Given the description of an element on the screen output the (x, y) to click on. 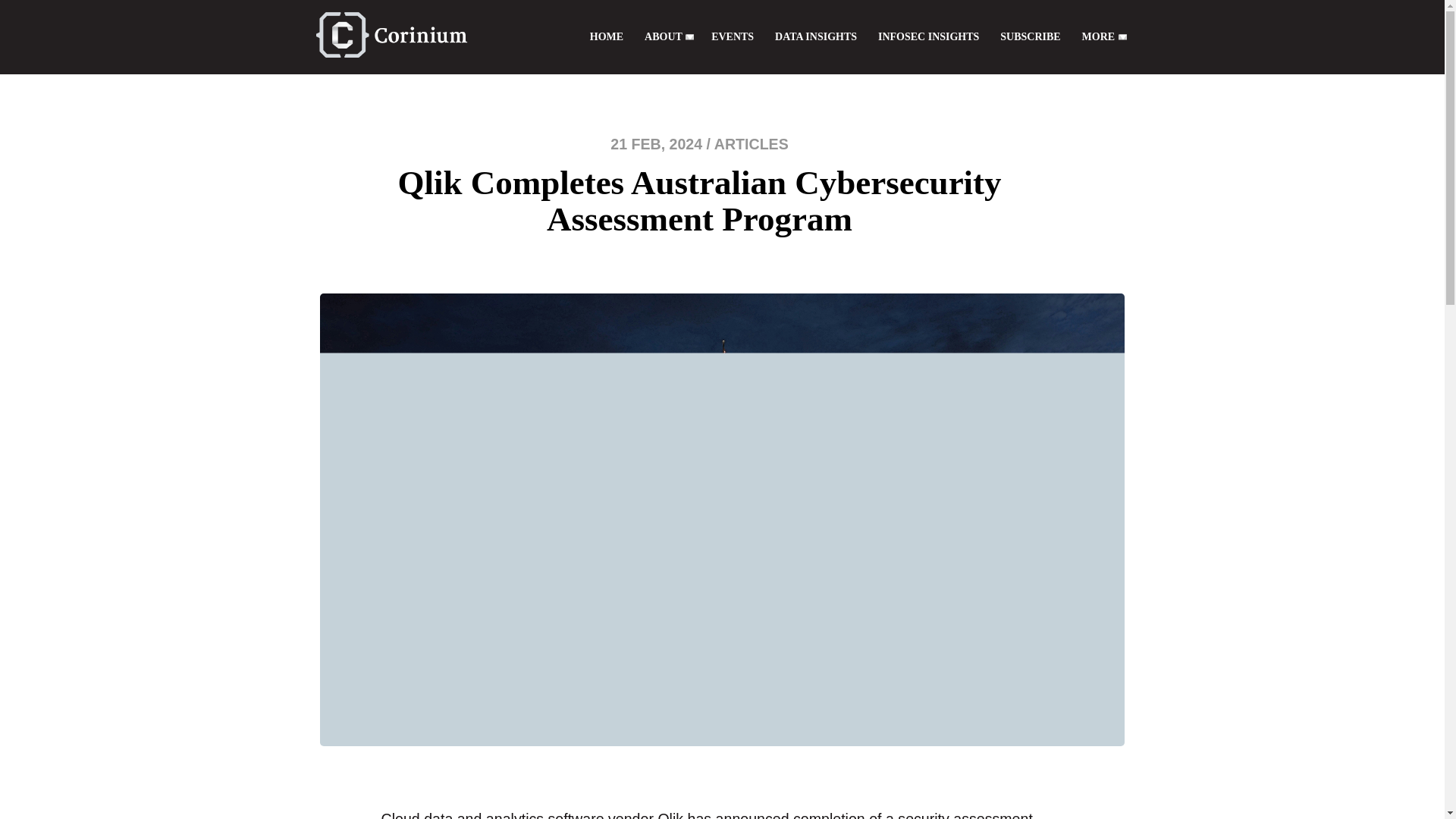
Corinium (391, 34)
DATA INSIGHTS (815, 36)
ARTICLES (751, 143)
INFOSEC INSIGHTS (927, 36)
SHOW SUBMENU FOR ABOUT (689, 36)
SHOW SUBMENU FOR MORE (1121, 36)
